Given the description of an element on the screen output the (x, y) to click on. 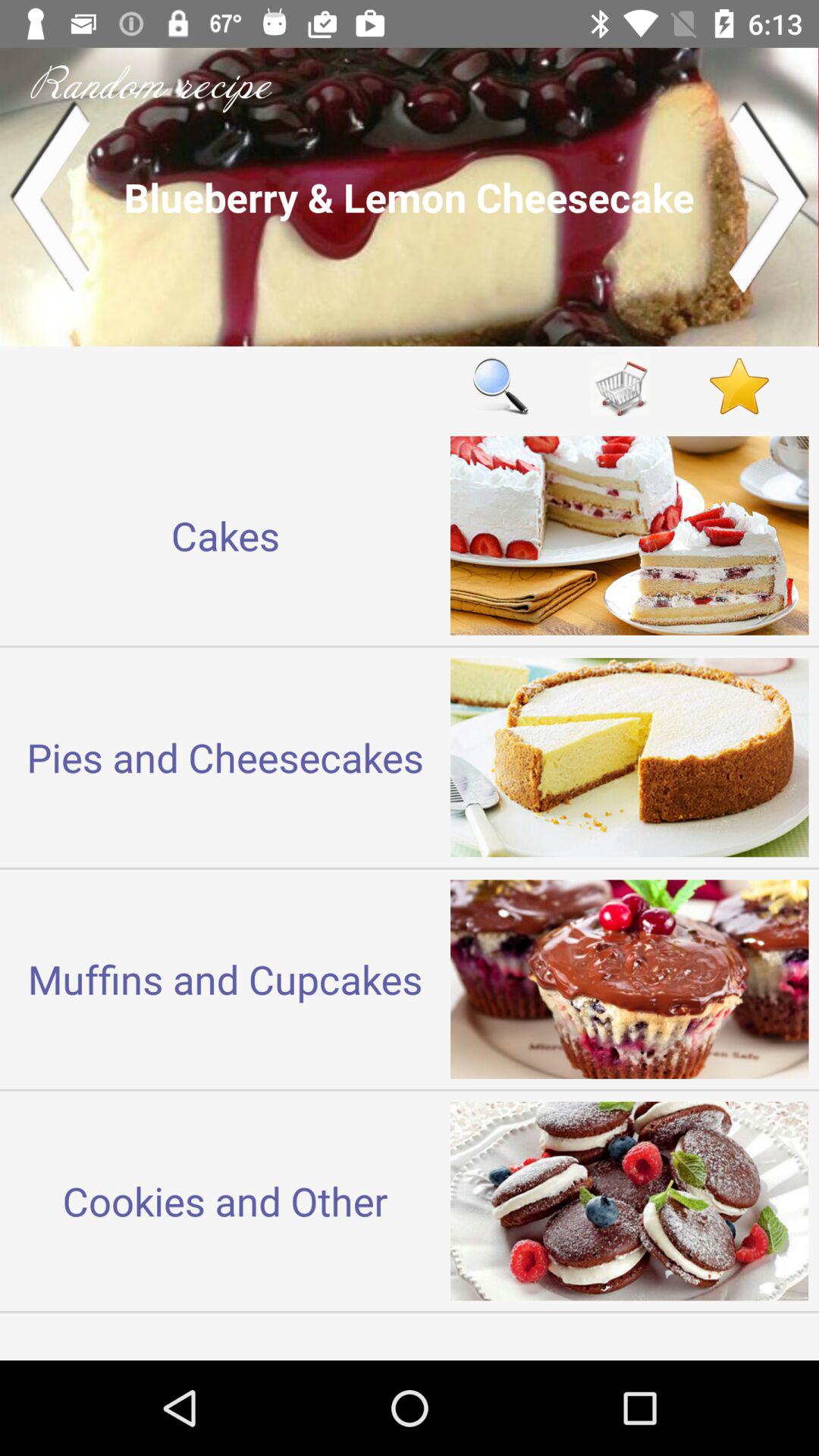
photo of current recipe (409, 196)
